Given the description of an element on the screen output the (x, y) to click on. 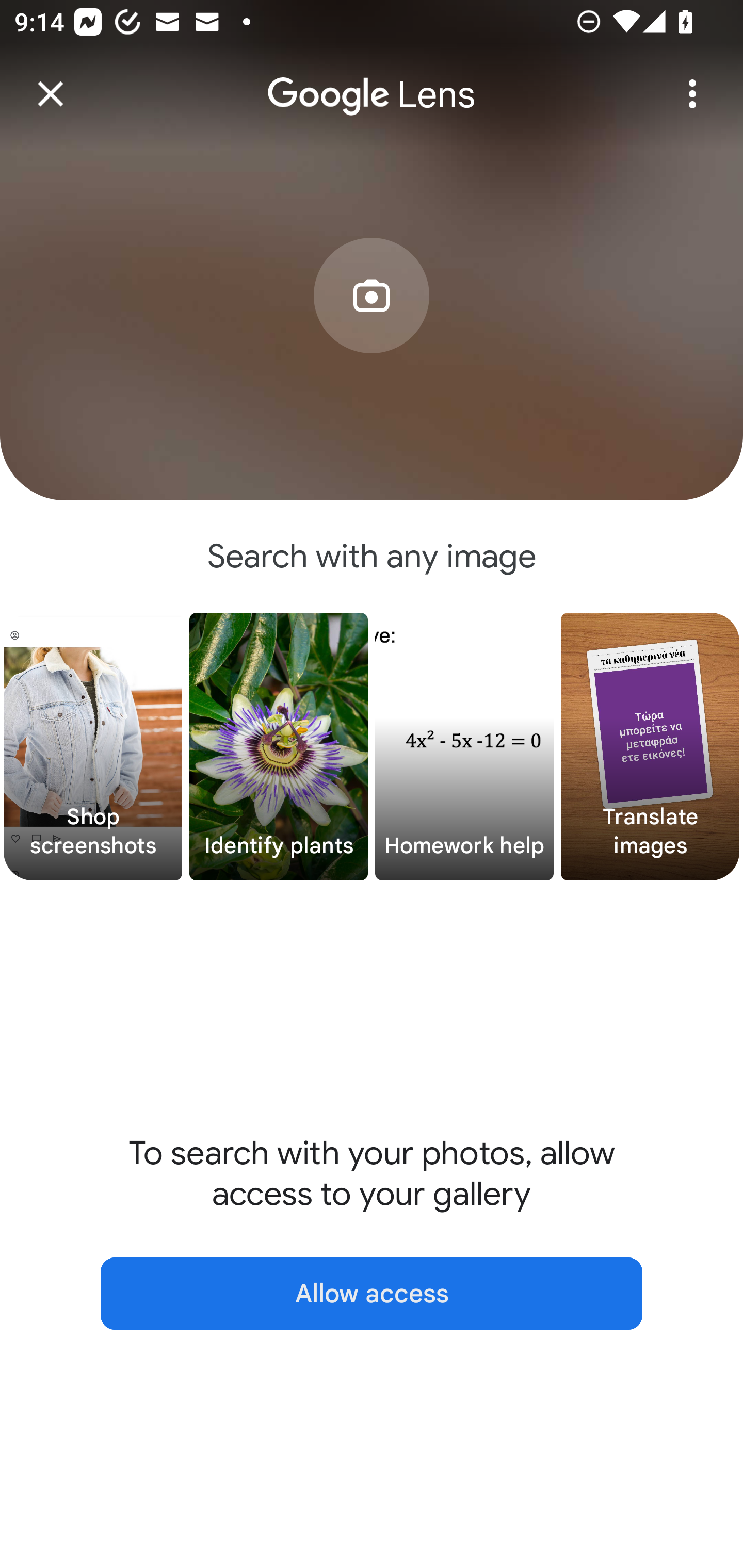
Google Lens Lens (371, 80)
Close (50, 94)
More options (692, 94)
Search with your camera (371, 326)
Shop screenshots (92, 747)
Identify plants (278, 747)
Homework help (464, 747)
Translate images (649, 747)
Allow access (371, 1293)
